Given the description of an element on the screen output the (x, y) to click on. 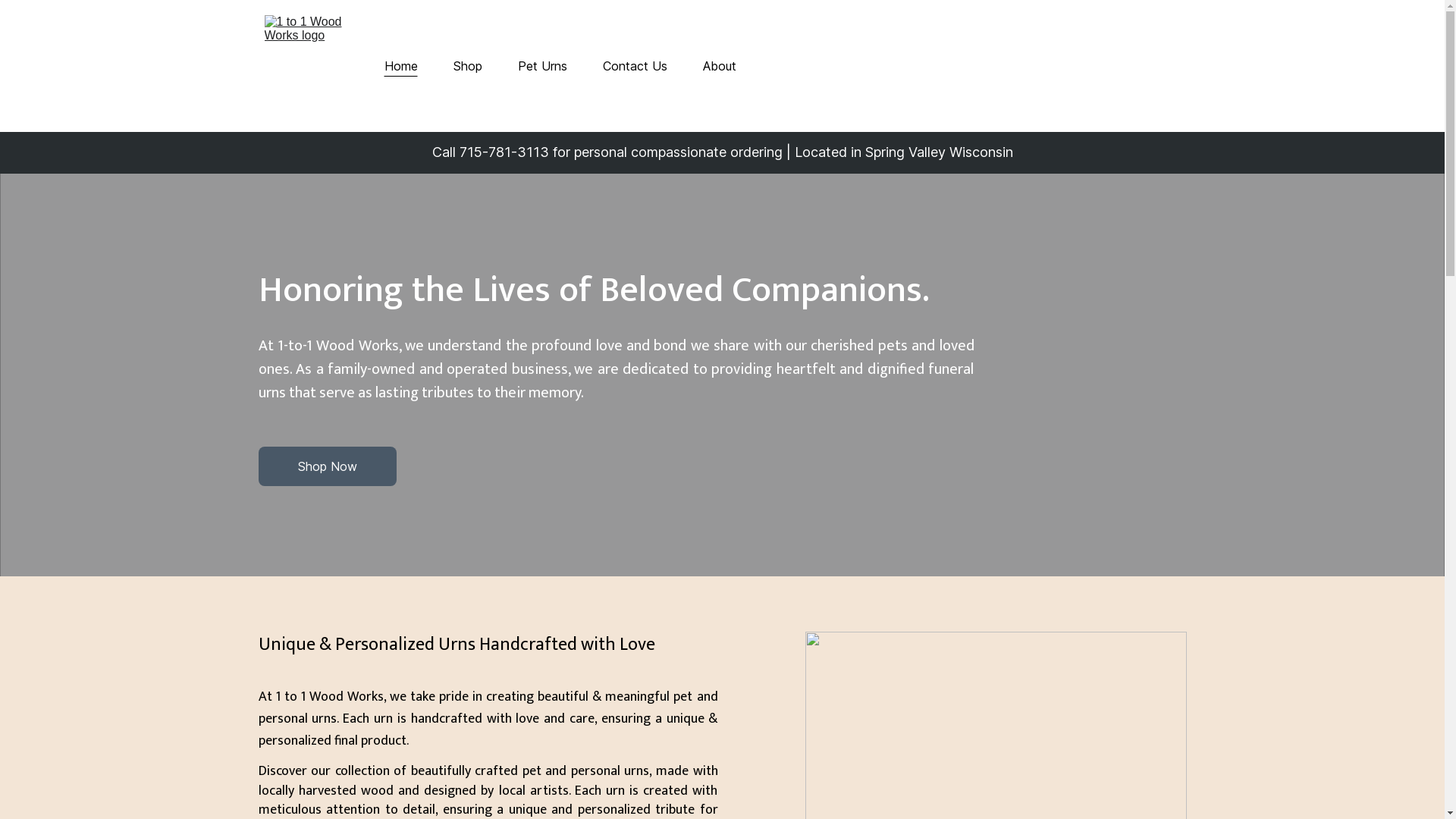
Shop Now Element type: text (326, 466)
Contact Us Element type: text (634, 65)
Home Element type: text (400, 65)
Shop Element type: text (467, 65)
About Element type: text (718, 65)
Pet Urns Element type: text (541, 65)
